Given the description of an element on the screen output the (x, y) to click on. 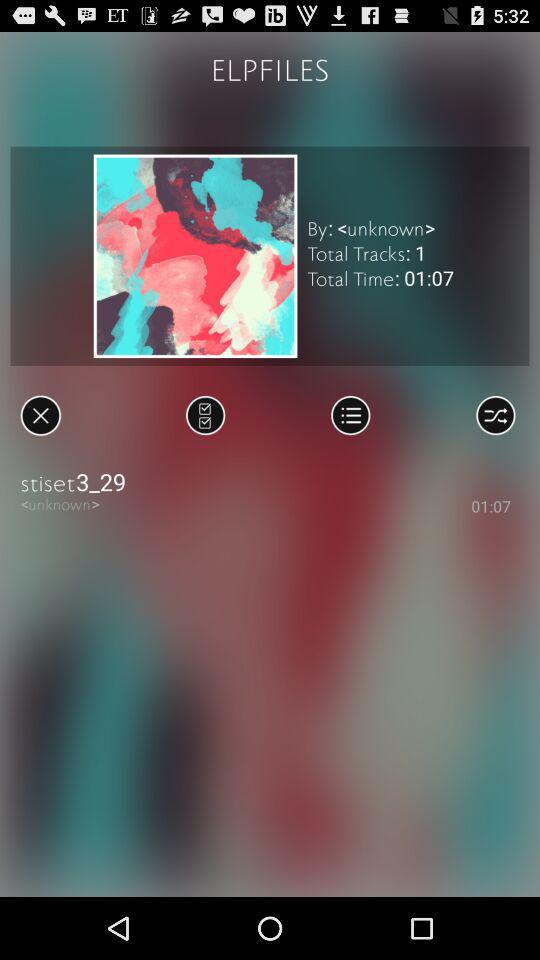
turn off the icon above the stiset3_29 icon (495, 415)
